Given the description of an element on the screen output the (x, y) to click on. 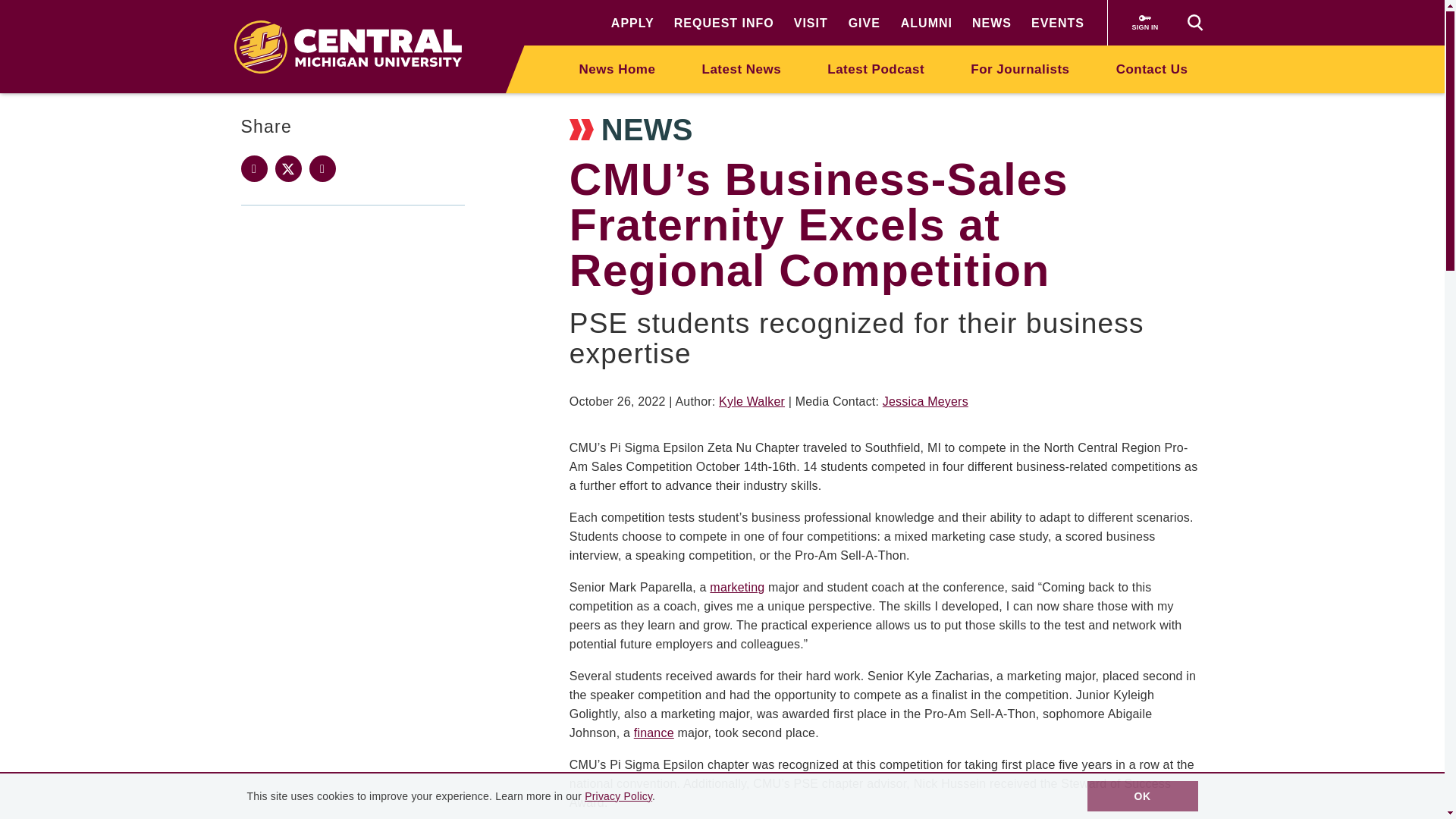
Latest Podcast (875, 68)
For Journalists (1019, 68)
Kyle Walker (751, 400)
Contact Us (1151, 68)
News Home (617, 68)
Privacy Policy (618, 796)
APPLY (632, 23)
Share this page on Facebook (254, 168)
Jessica Meyers (925, 400)
